Given the description of an element on the screen output the (x, y) to click on. 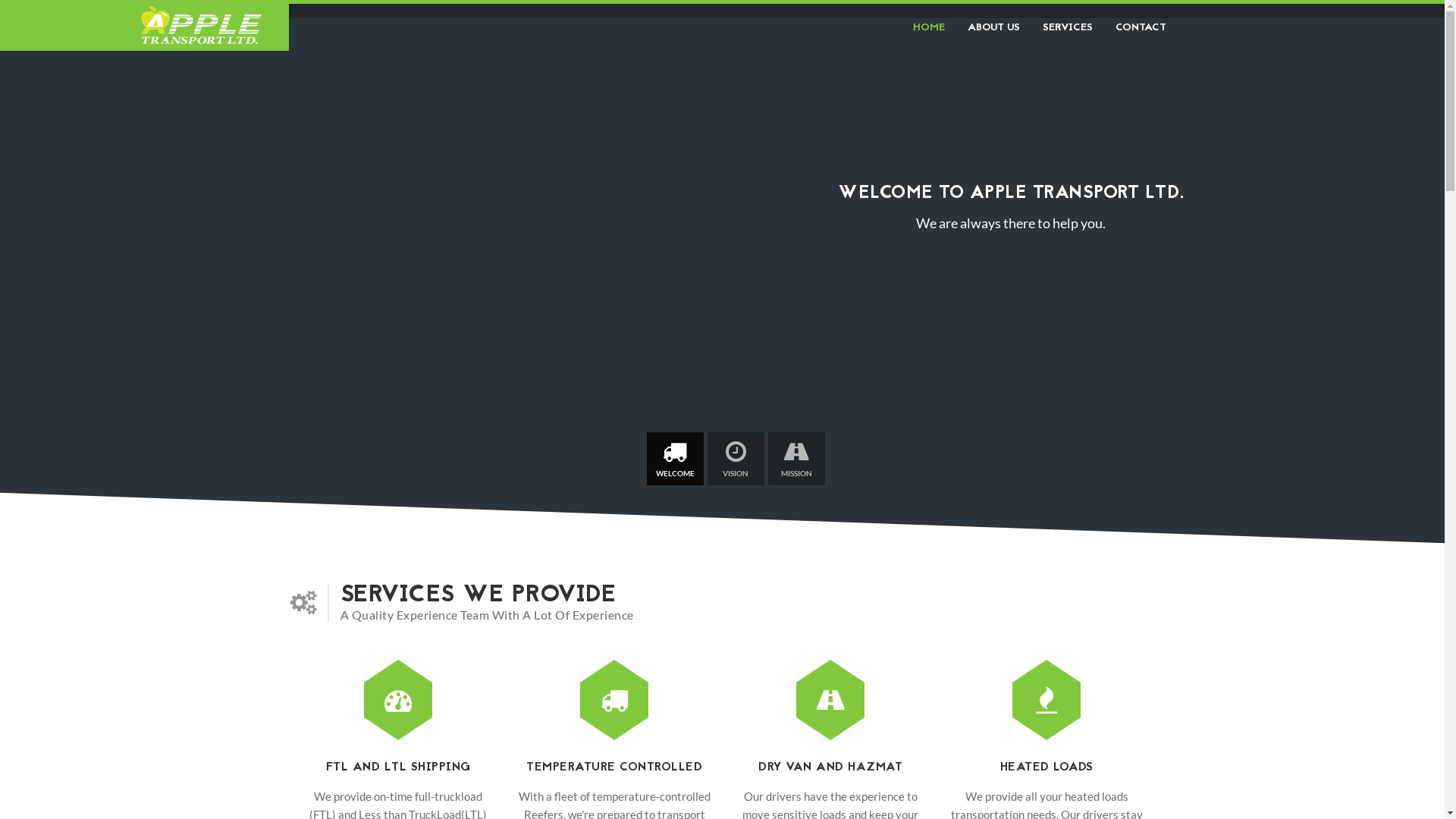
VISION Element type: text (734, 458)
SERVICES Element type: text (1067, 26)
CONTACT Element type: text (1135, 26)
HOME Element type: text (927, 26)
ABOUT US Element type: text (992, 26)
WELCOME Element type: text (674, 458)
MISSION Element type: text (795, 458)
